Given the description of an element on the screen output the (x, y) to click on. 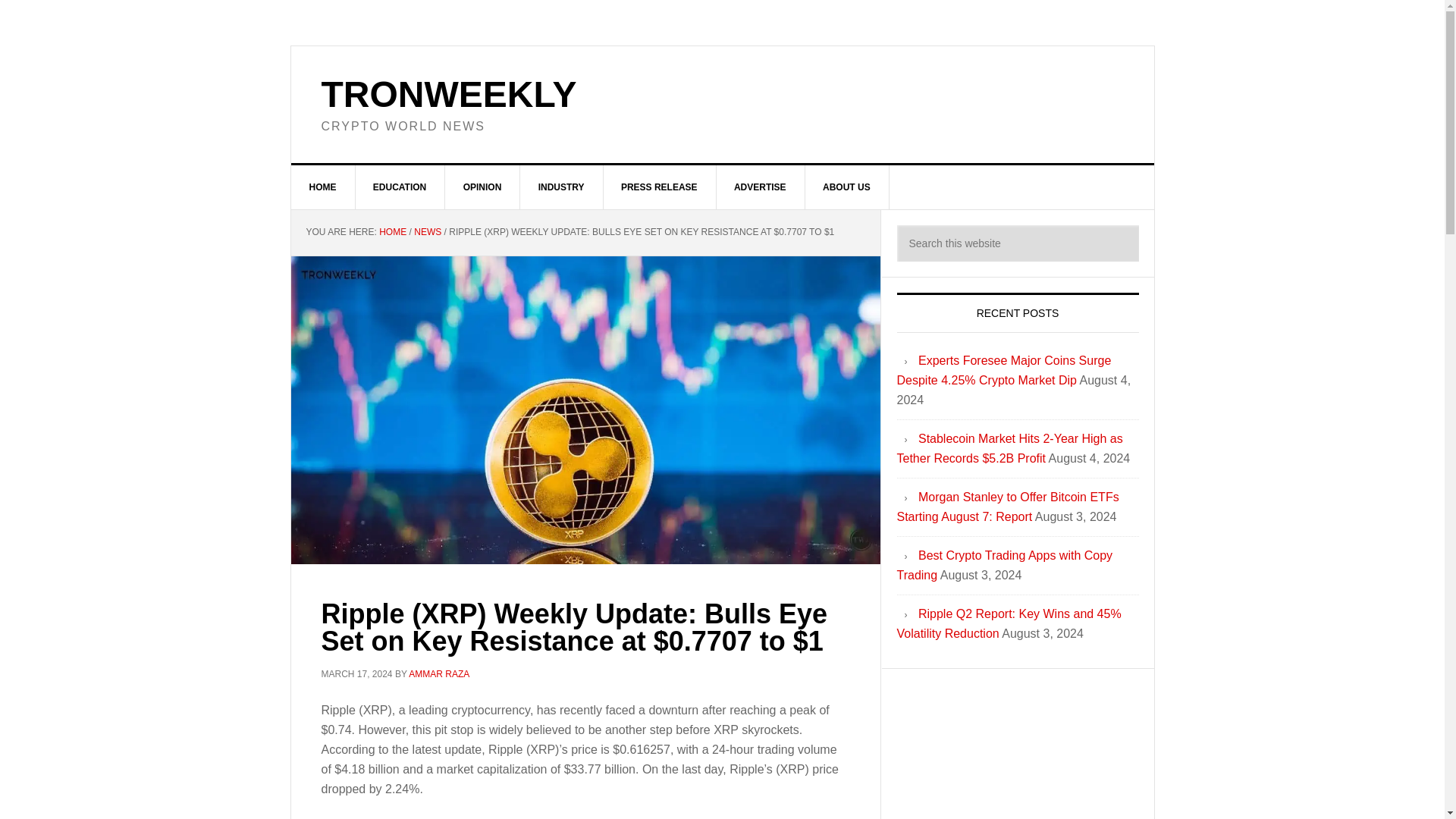
Best Crypto Trading Apps for Long-term Investing (1013, 428)
ABOUT US (847, 187)
INDUSTRY (561, 187)
EDUCATION (400, 187)
HOME (323, 187)
Best Crypto Trading Apps for iOS (1007, 477)
OPINION (483, 187)
NEWS (427, 231)
PRESS RELEASE (659, 187)
TRONWEEKLY (448, 94)
AMMAR RAZA (438, 674)
HOME (392, 231)
ADVERTISE (760, 187)
